Given the description of an element on the screen output the (x, y) to click on. 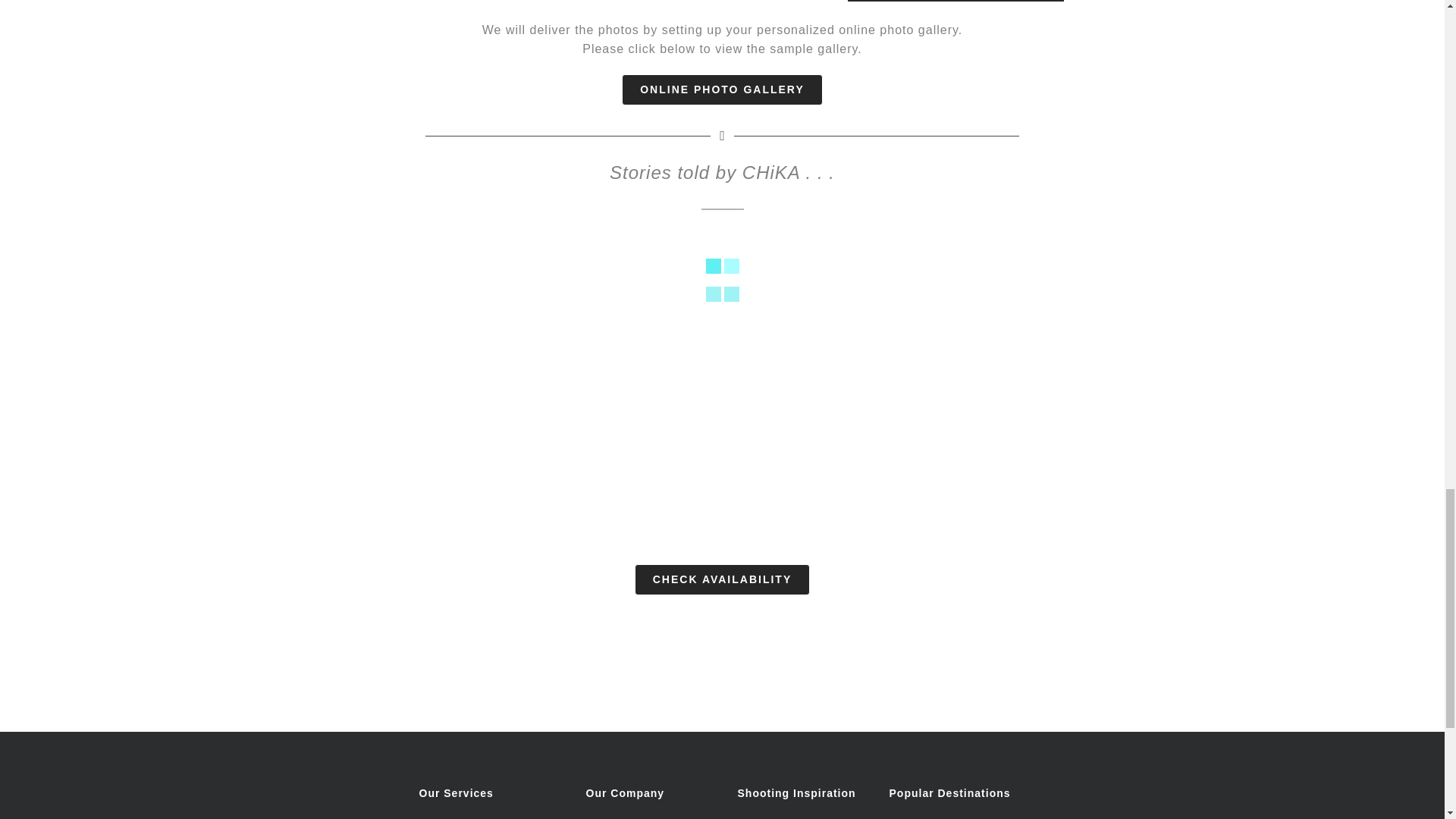
Please click below to view the sample gallery. (721, 48)
ONLINE PHOTO GALLERY (721, 89)
